Given the description of an element on the screen output the (x, y) to click on. 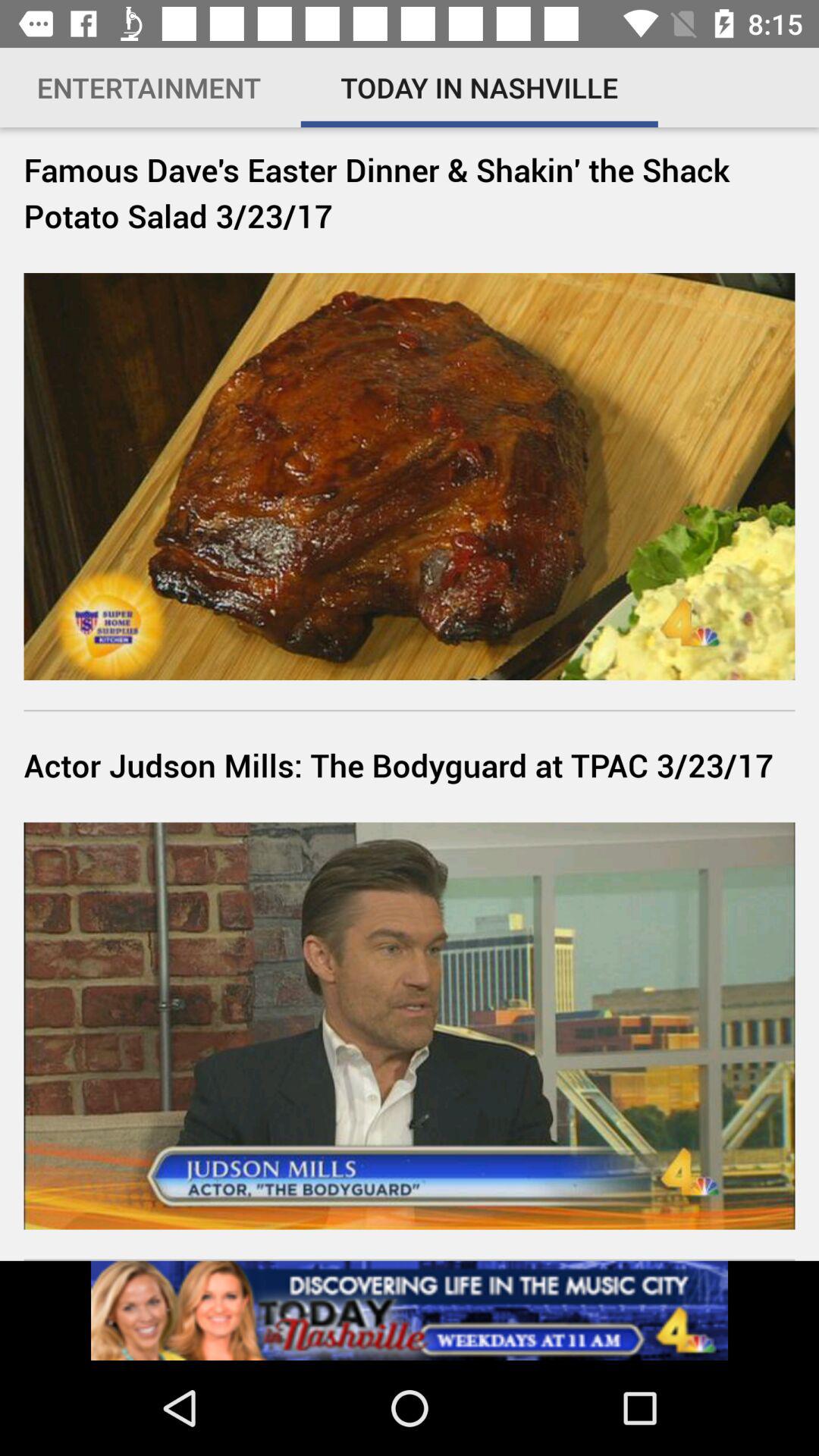
view the advertisement (409, 1310)
